Given the description of an element on the screen output the (x, y) to click on. 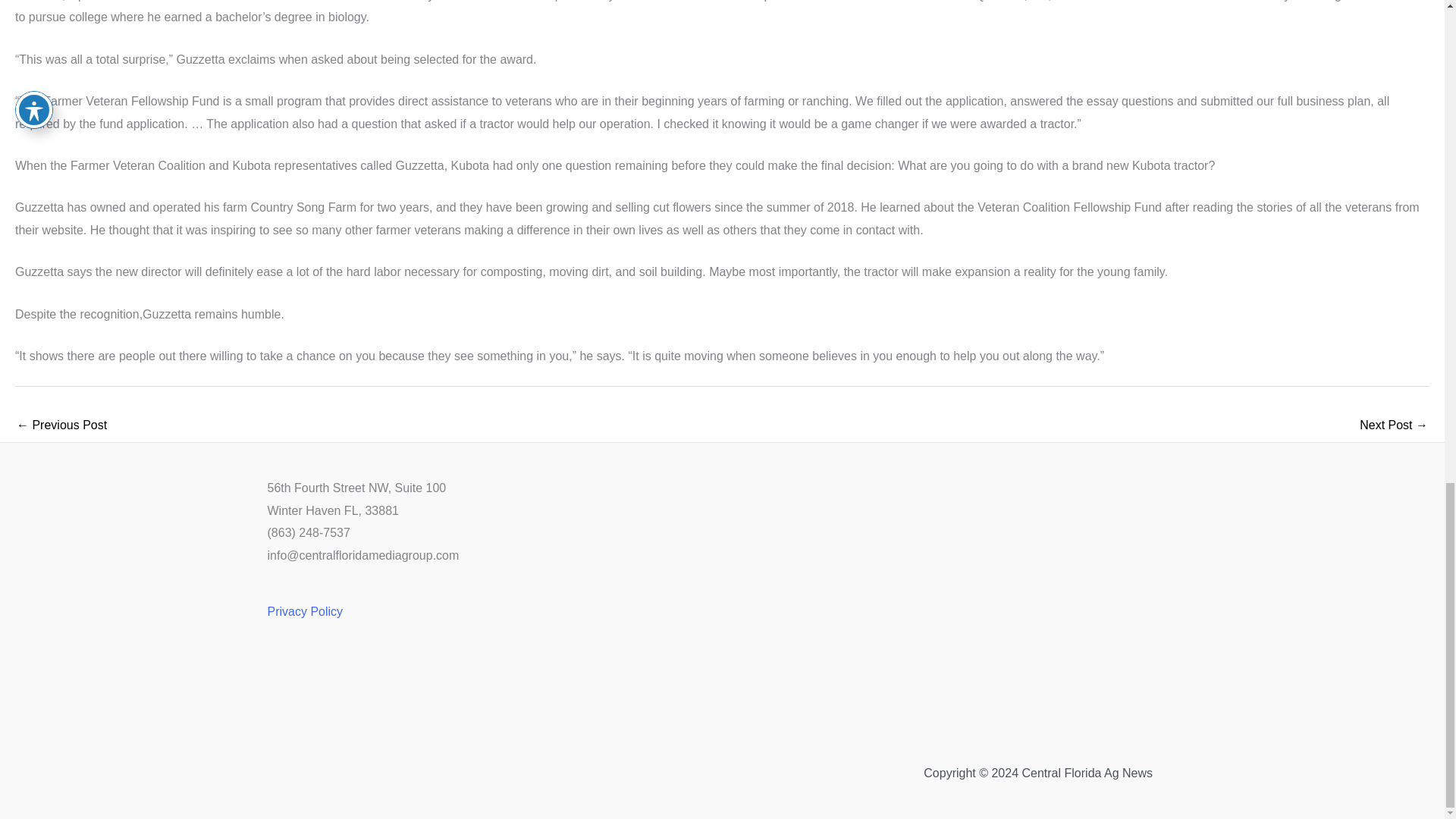
Barking Up the Right Tree (61, 426)
2020 Citrus Forecast (1393, 426)
